Given the description of an element on the screen output the (x, y) to click on. 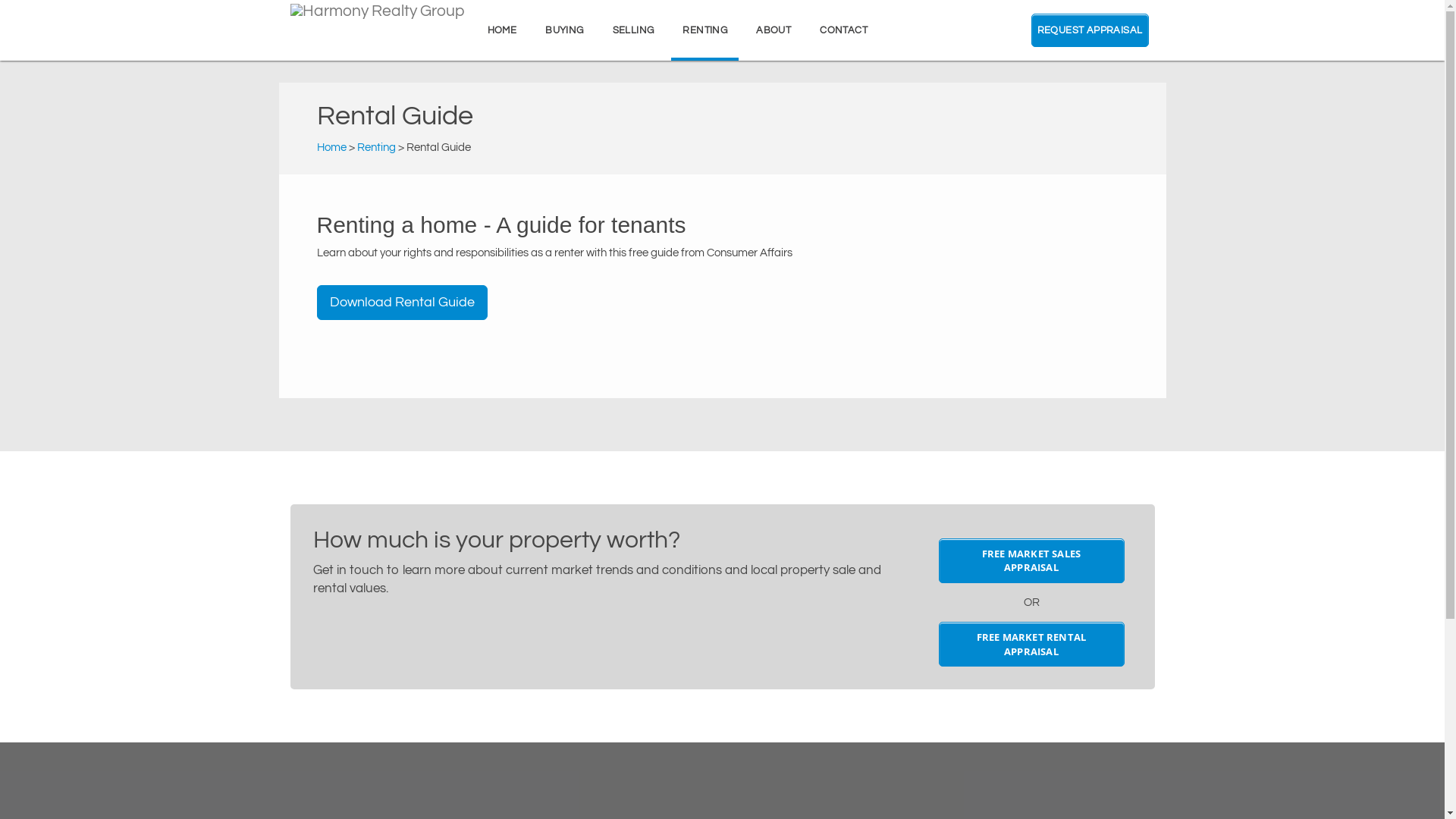
SELLING Element type: text (633, 30)
HOME Element type: text (502, 30)
REQUEST APPRAISAL Element type: text (1089, 30)
RENTING Element type: text (704, 30)
Download Rental Guide Element type: text (401, 302)
ABOUT Element type: text (773, 30)
Renting Element type: text (375, 147)
CONTACT Element type: text (843, 30)
FREE MARKET RENTAL APPRAISAL Element type: text (1031, 643)
FREE MARKET SALES APPRAISAL Element type: text (1031, 560)
Home Element type: text (331, 147)
BUYING Element type: text (563, 30)
